Given the description of an element on the screen output the (x, y) to click on. 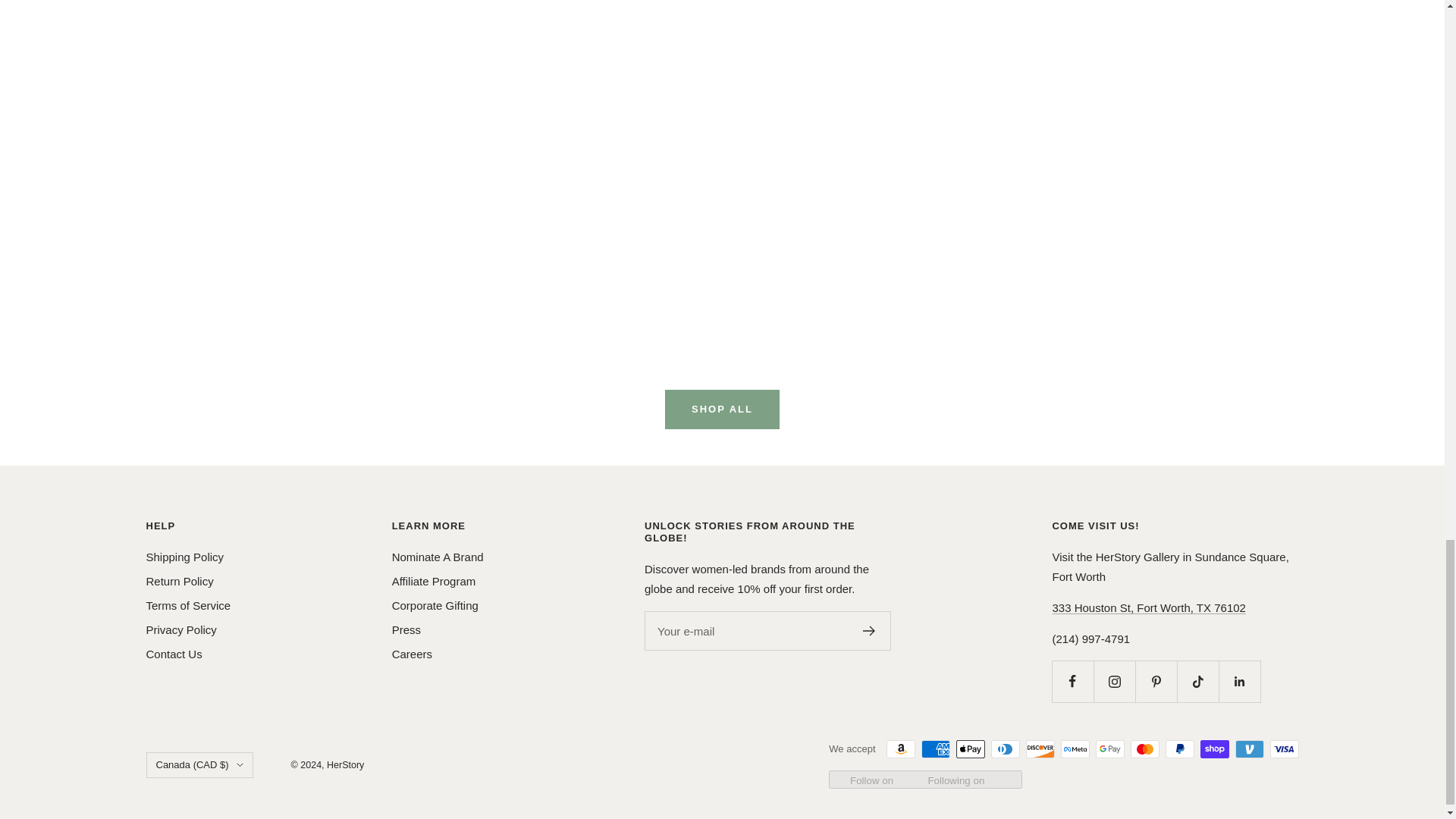
Register (869, 630)
